Given the description of an element on the screen output the (x, y) to click on. 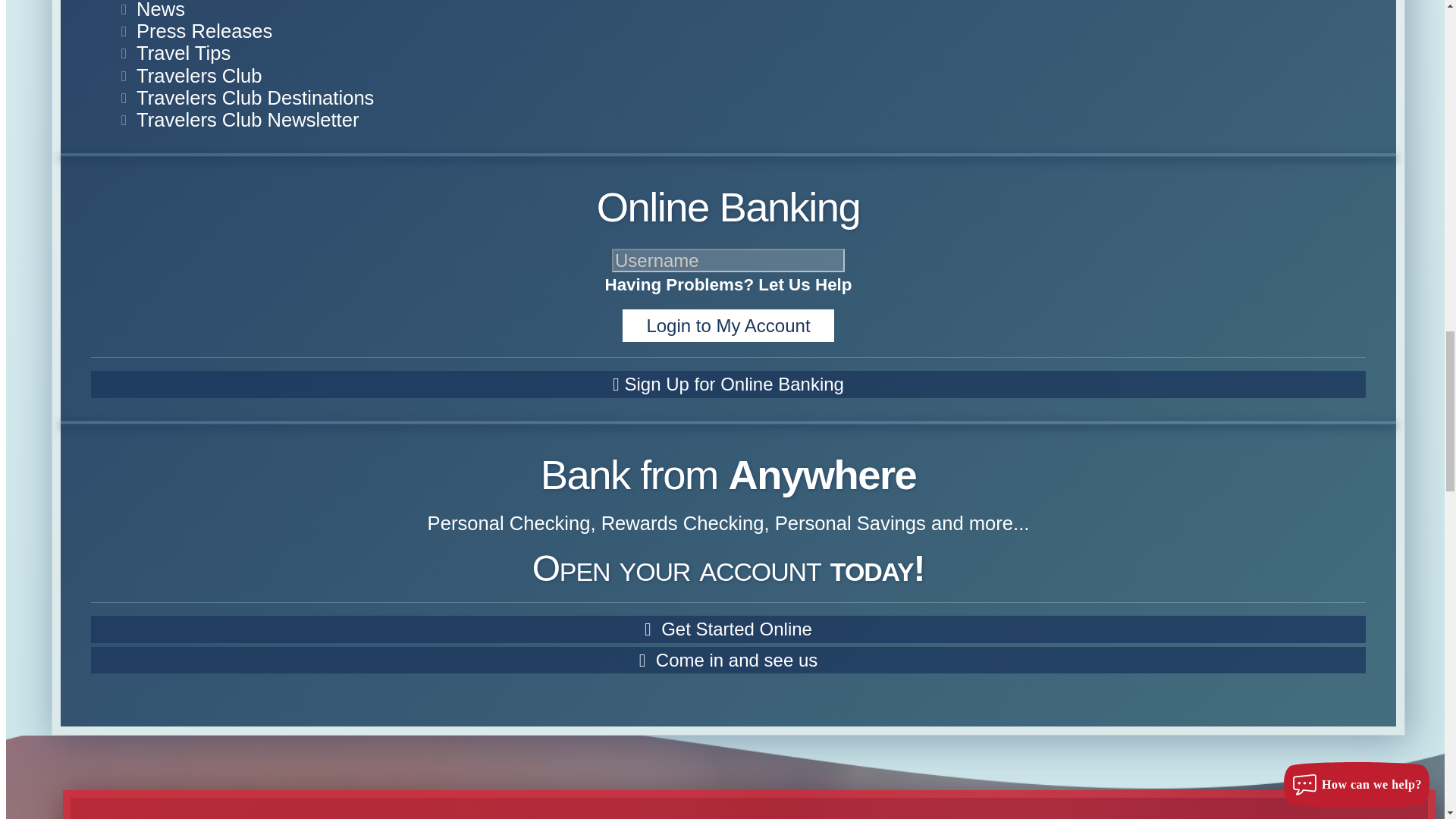
Travelers Club Newsletter (247, 119)
Travel Tips (183, 52)
Travelers Club Destinations (255, 97)
Press Releases (204, 30)
Travelers Club (199, 75)
News (160, 9)
Sign Up for Online Banking (727, 384)
